Given the description of an element on the screen output the (x, y) to click on. 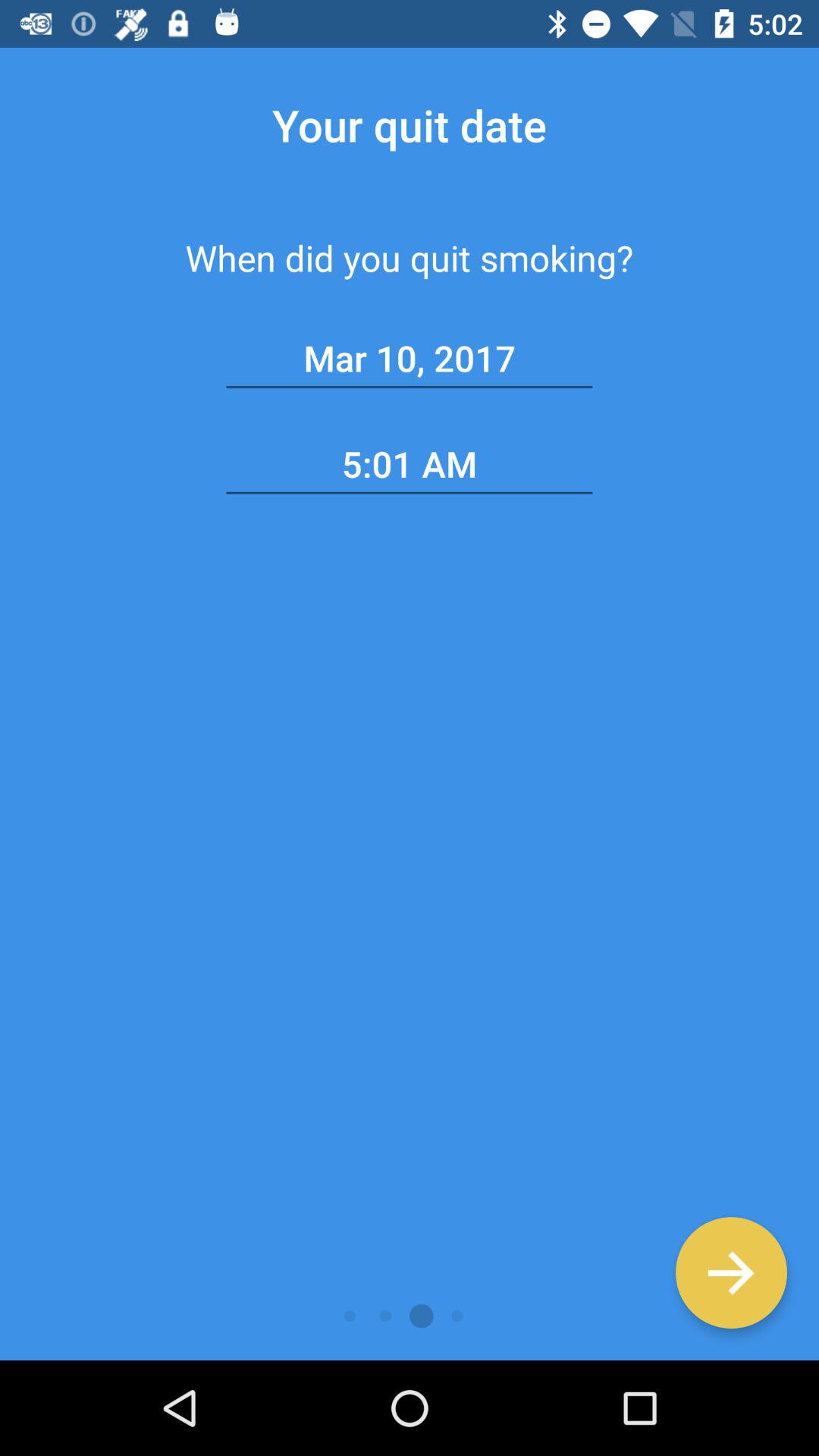
select mar 10, 2017 item (409, 358)
